Given the description of an element on the screen output the (x, y) to click on. 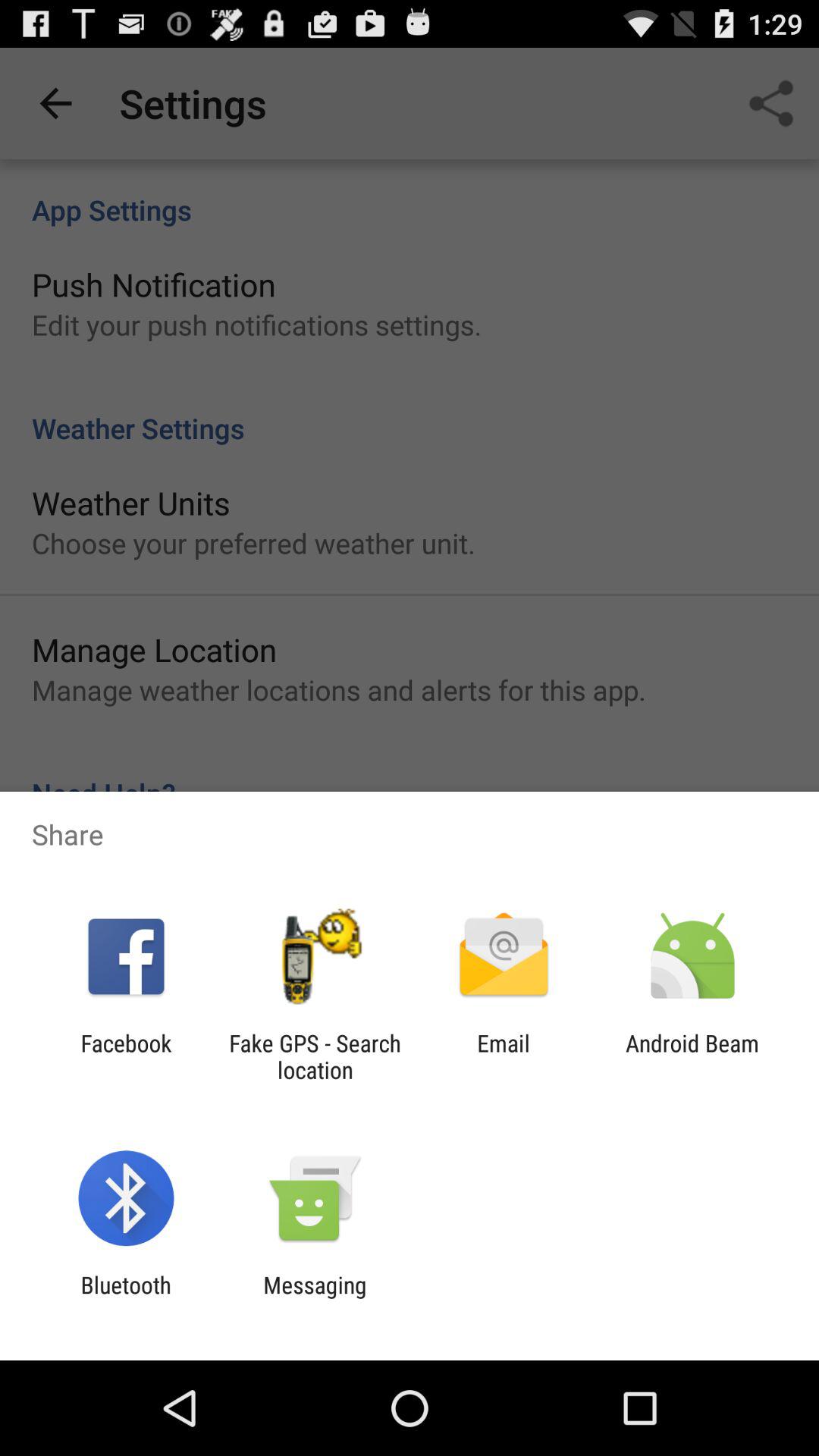
jump until facebook item (125, 1056)
